Given the description of an element on the screen output the (x, y) to click on. 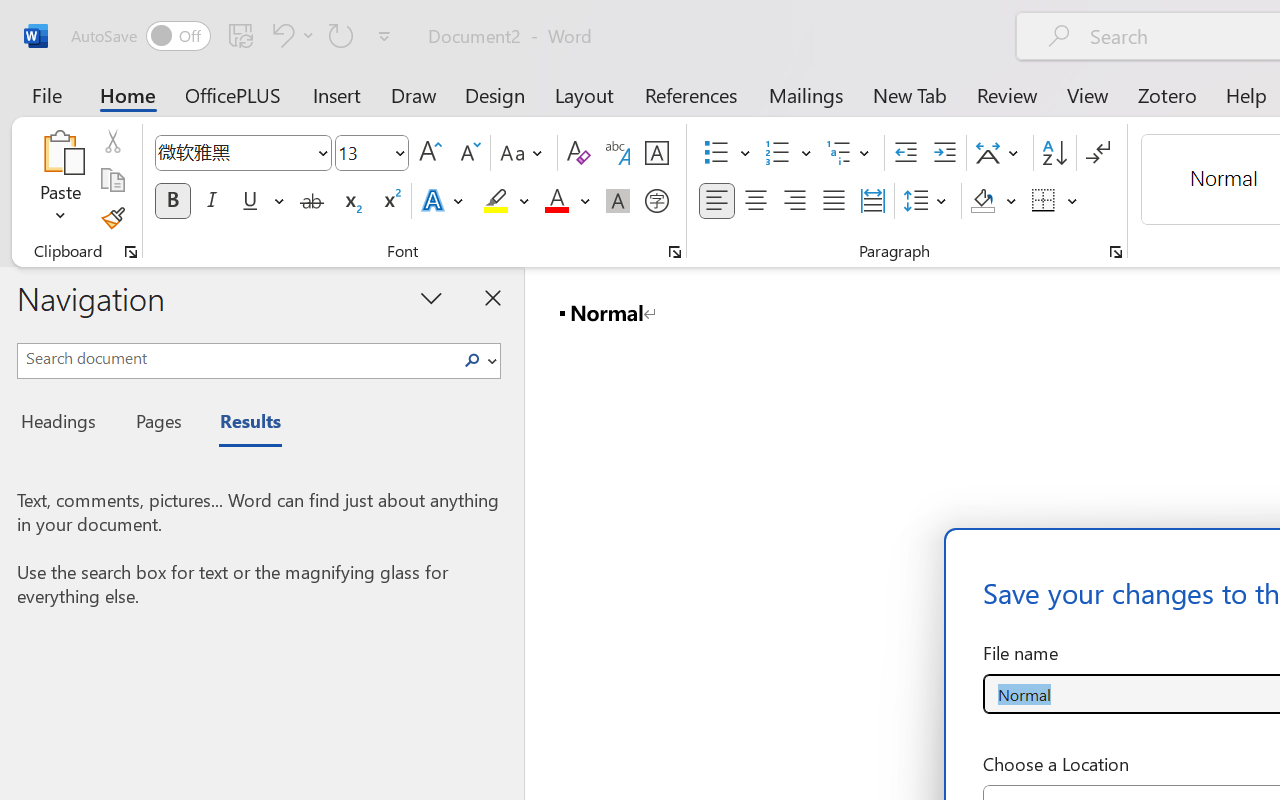
Shading RGB(0, 0, 0) (982, 201)
AutoSave (140, 35)
Search (478, 360)
Copy (112, 179)
Text Highlight Color Yellow (495, 201)
Asian Layout (1000, 153)
Review (1007, 94)
Sort... (1054, 153)
Superscript (390, 201)
Text Effects and Typography (444, 201)
Increase Indent (944, 153)
